Given the description of an element on the screen output the (x, y) to click on. 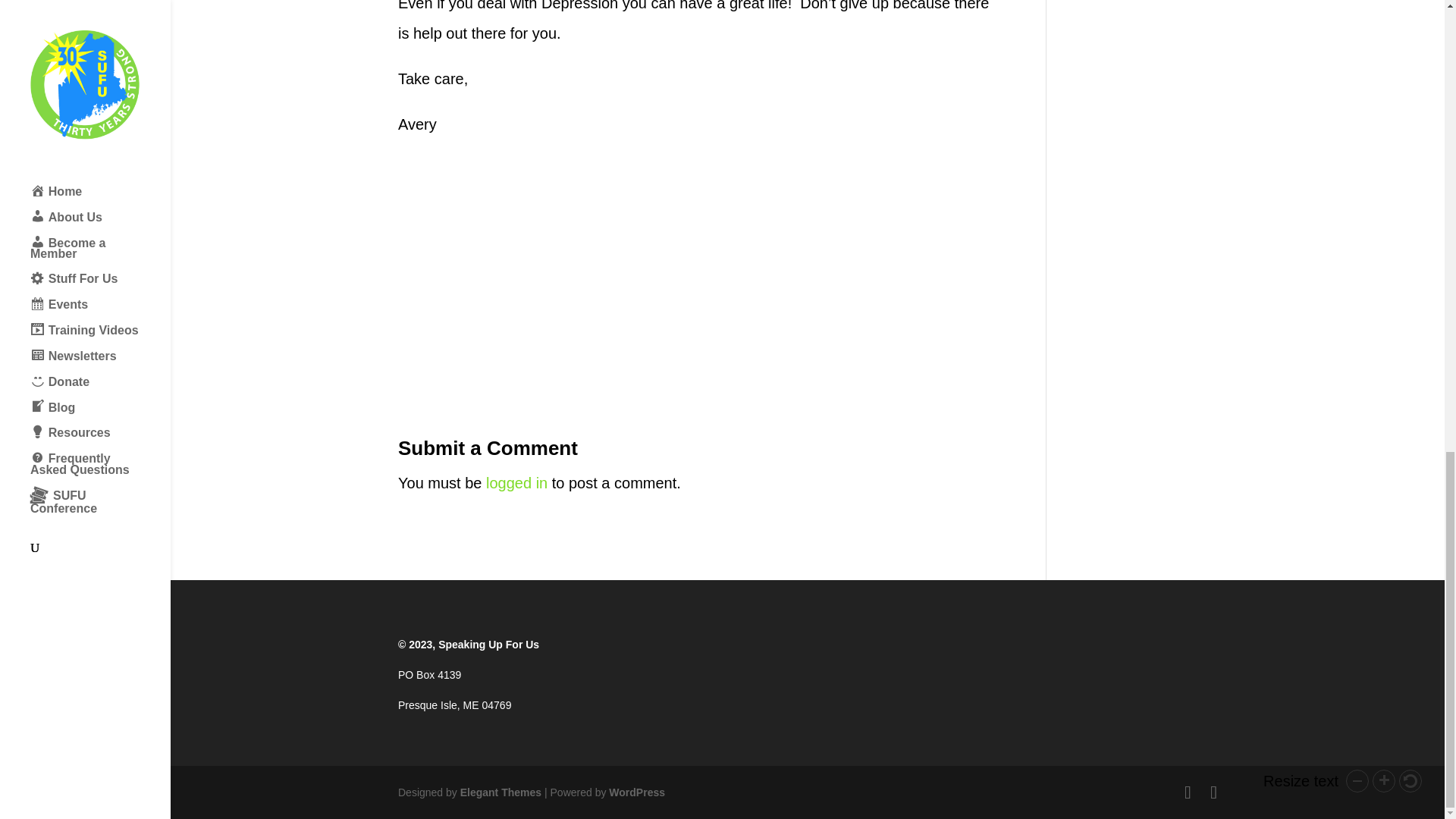
Premium WordPress Themes (500, 792)
Elegant Themes (500, 792)
WordPress (636, 792)
logged in (516, 483)
